Given the description of an element on the screen output the (x, y) to click on. 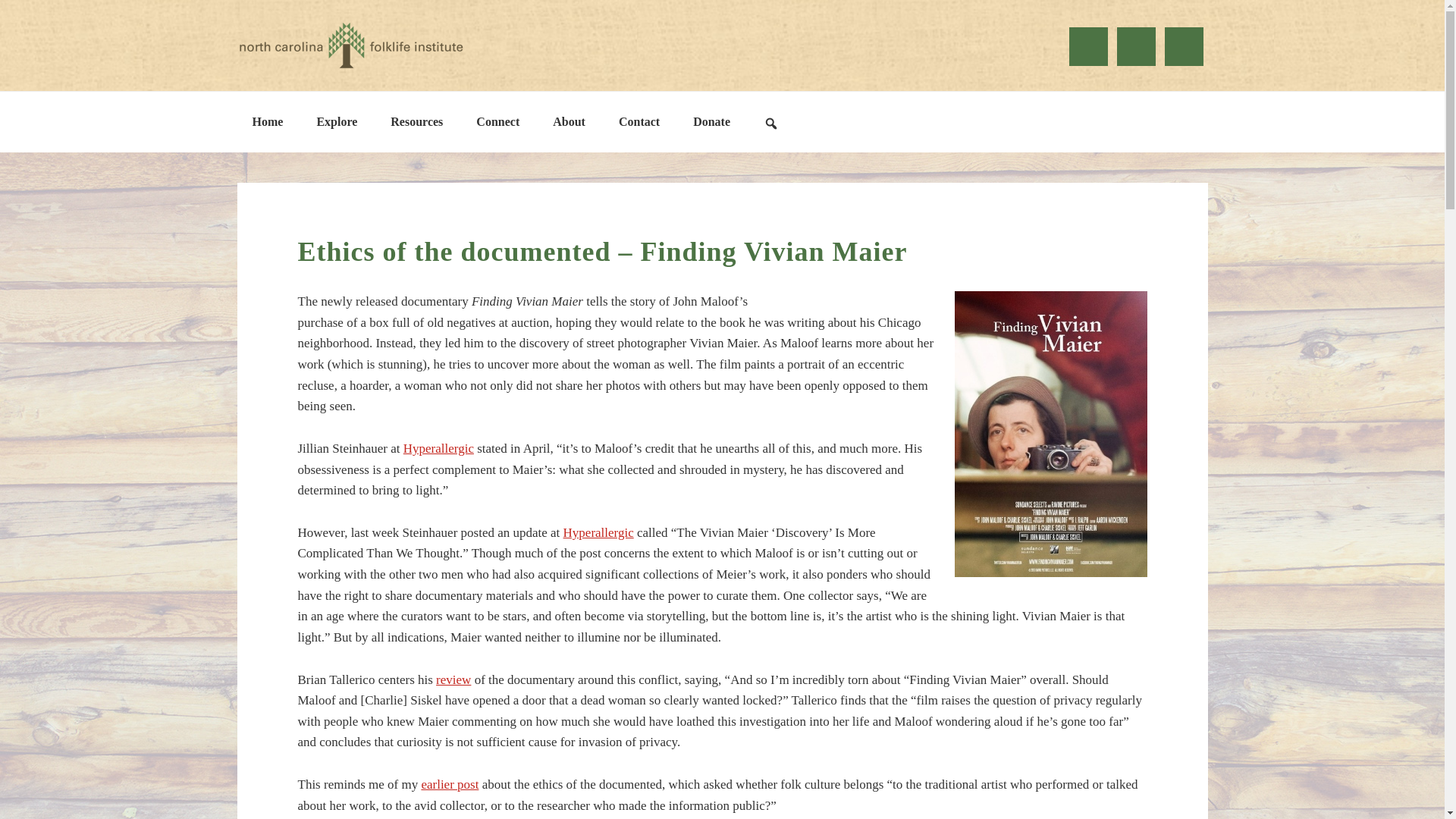
earlier post (449, 784)
NC Folk (349, 45)
Contact (639, 121)
Home (266, 121)
Explore (336, 121)
Donate (711, 121)
review (452, 679)
Hyperallergic (438, 448)
Connect (497, 121)
Hyperallergic (598, 532)
About (568, 121)
Resources (416, 121)
